Given the description of an element on the screen output the (x, y) to click on. 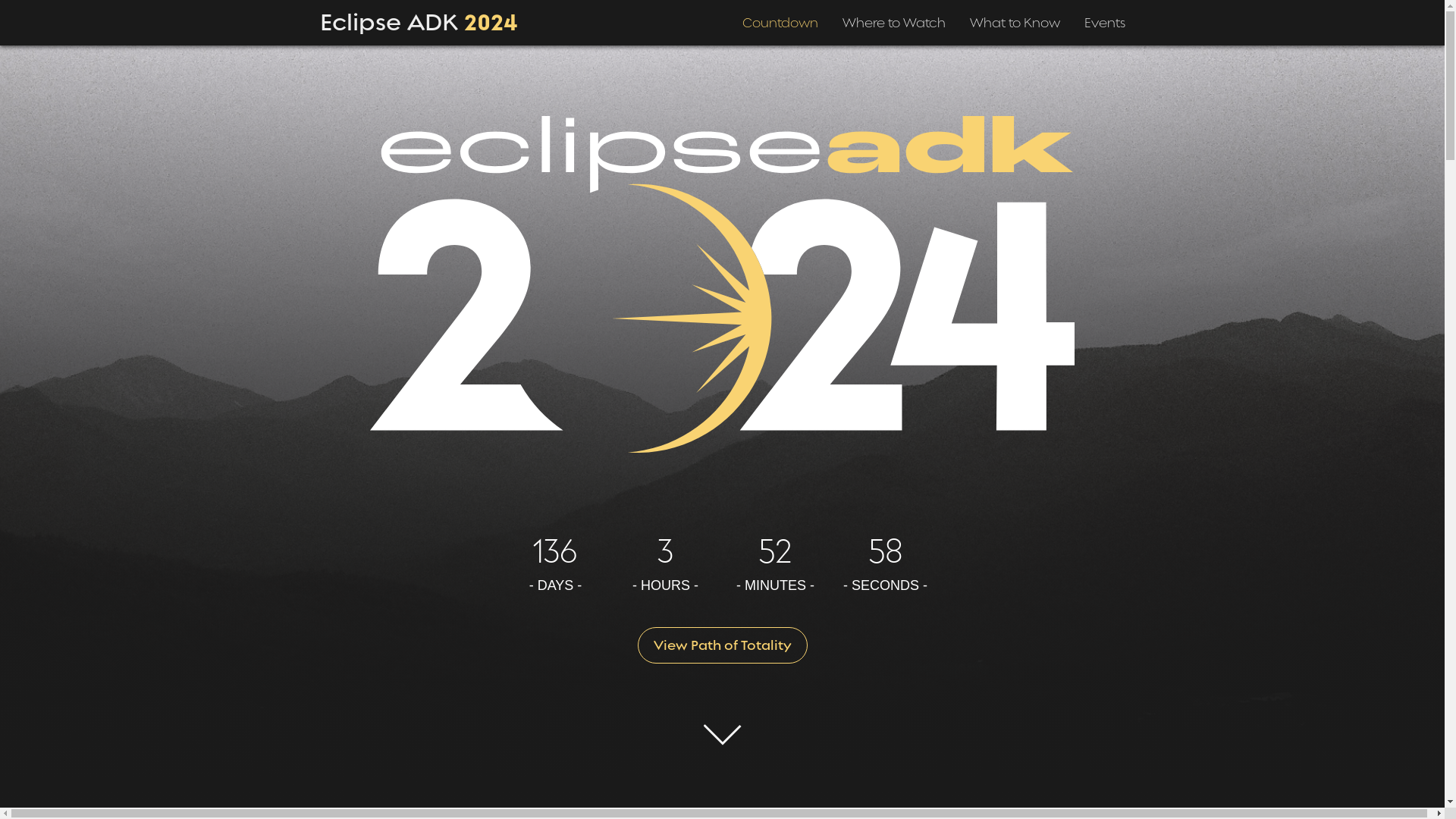
Where to Watch Element type: text (892, 17)
Eclipse ADK 2024 Element type: text (418, 17)
Events Element type: text (1104, 17)
What to Know Element type: text (1014, 17)
View Path of Totality Element type: text (721, 645)
Countdown Element type: text (779, 17)
